Given the description of an element on the screen output the (x, y) to click on. 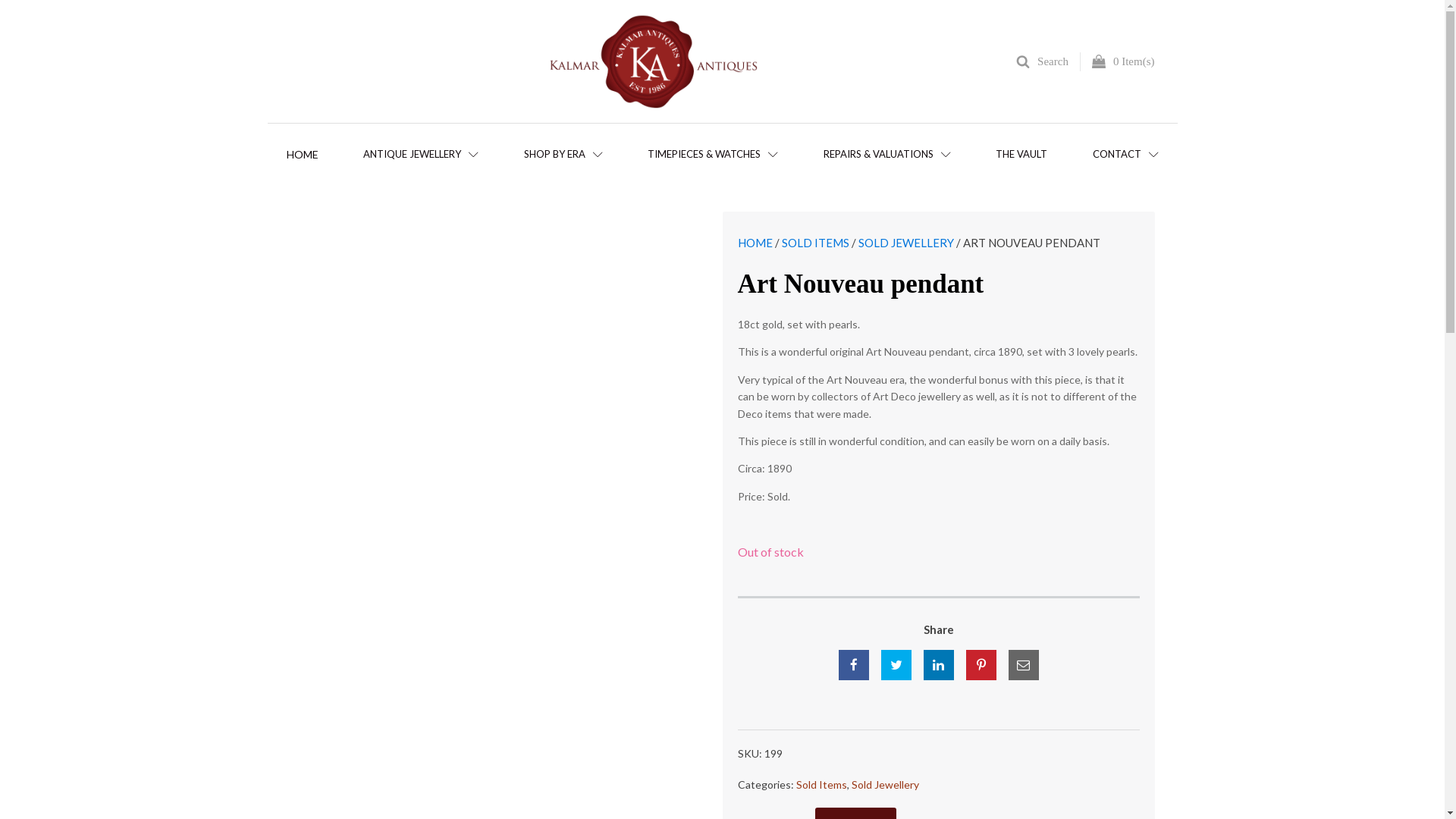
Sold Jewellery Element type: text (884, 784)
0 Item(s) Element type: text (1116, 60)
SOLD JEWELLERY Element type: text (905, 242)
CONTACT Element type: text (1124, 154)
THE VAULT Element type: text (1021, 154)
Sold Items Element type: text (821, 784)
REPAIRS & VALUATIONS Element type: text (886, 154)
ANTIQUE JEWELLERY Element type: text (420, 154)
HOME Element type: text (302, 155)
SHOP BY ERA Element type: text (562, 154)
TIMEPIECES & WATCHES Element type: text (712, 154)
SOLD ITEMS Element type: text (814, 242)
HOME Element type: text (754, 242)
